Given the description of an element on the screen output the (x, y) to click on. 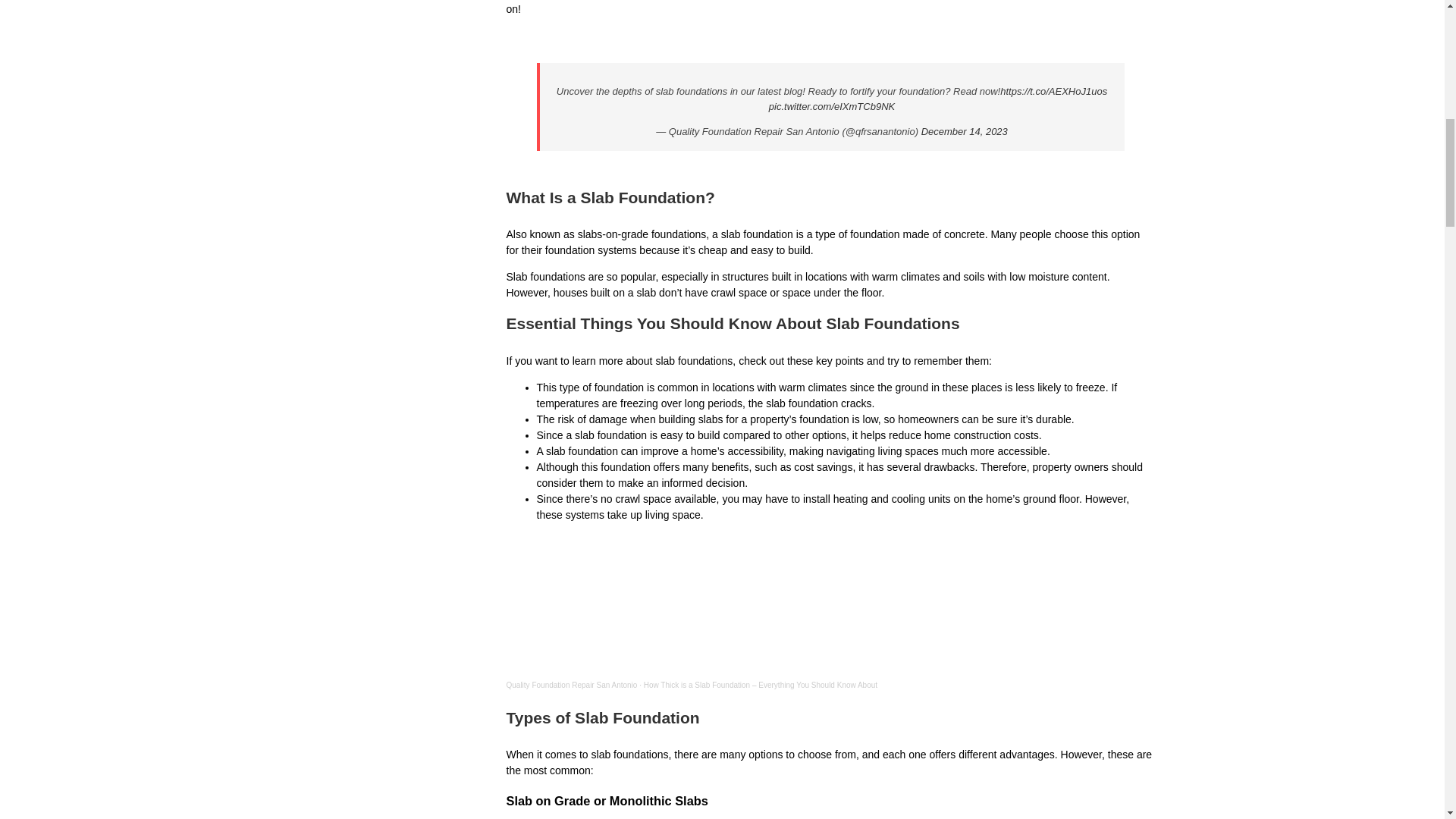
Quality Foundation Repair San Antonio (571, 684)
